Given the description of an element on the screen output the (x, y) to click on. 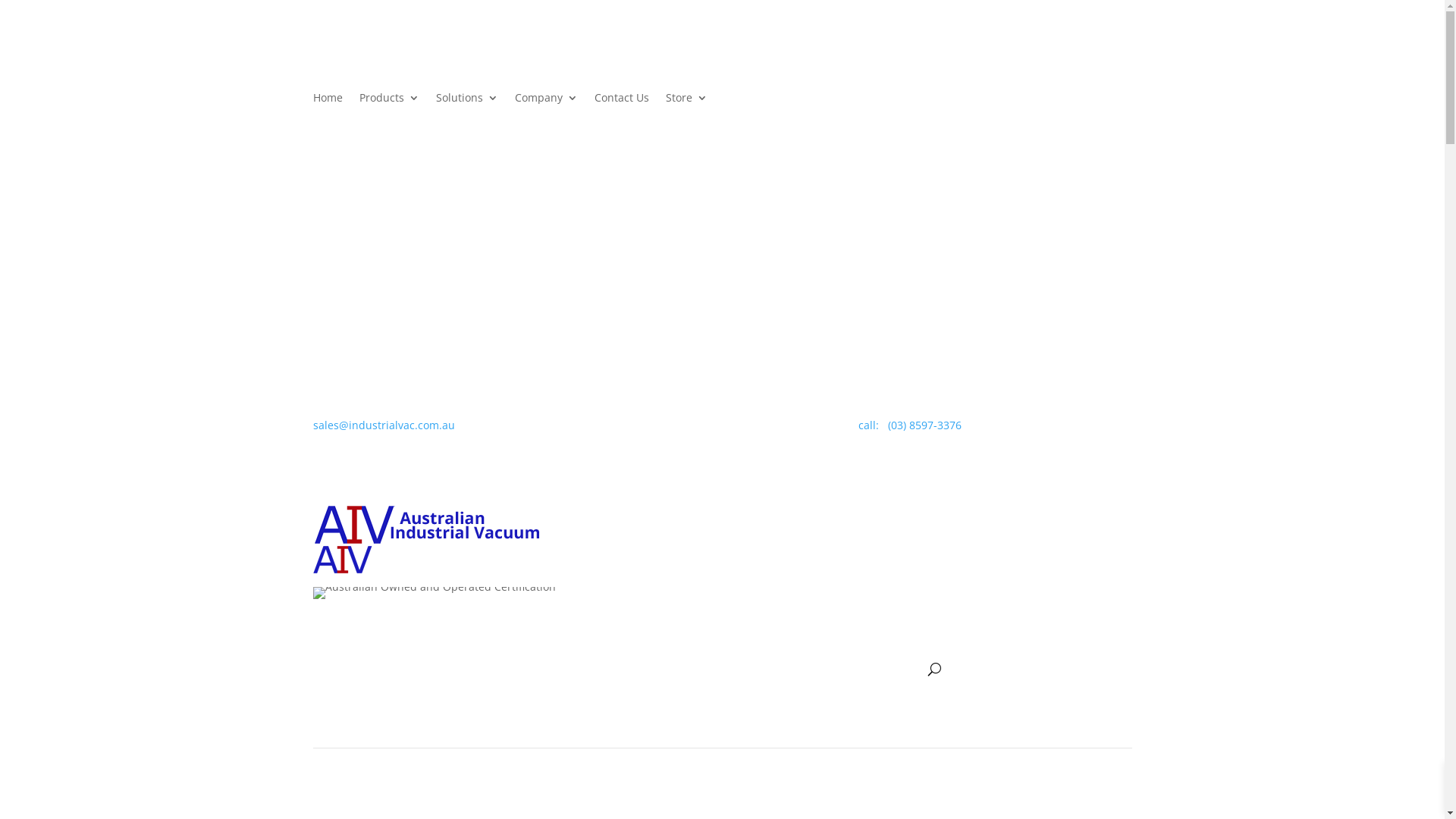
Follow on Twitter Element type: hover (1101, 46)
sales@industrialvac.com.au Element type: text (70, 41)
Follow on LinkedIn Element type: hover (1041, 46)
Store Element type: text (686, 109)
Follow on Instagram Element type: hover (1010, 46)
Home Element type: text (327, 109)
Store Element type: text (868, 672)
Contact Us Element type: text (621, 109)
Follow on Vimeo Element type: hover (736, 428)
Follow on Instagram Element type: hover (676, 428)
Solutions Element type: text (649, 672)
email-logo-full Element type: hover (425, 524)
Follow on Youtube Element type: hover (1132, 46)
Products Element type: text (389, 109)
sales@industrialvac.com.au Element type: text (383, 424)
Follow on Facebook Element type: hover (980, 46)
Follow on LinkedIn Element type: hover (706, 428)
Follow on Vimeo Element type: hover (1071, 46)
call:   (03) 8597-3376 Element type: text (909, 424)
Follow on Youtube Element type: hover (797, 428)
My account Element type: text (1351, 51)
store Element type: text (1096, 618)
submit Element type: text (831, 624)
Home Element type: text (509, 672)
Company Element type: text (727, 672)
AO-logo-595 Element type: hover (433, 592)
Call : (03) 8597-3376 Element type: text (50, 57)
email-logo-full Element type: hover (433, 48)
Solutions Element type: text (466, 109)
Company Element type: text (545, 109)
Contact Us Element type: text (803, 672)
Products Element type: text (571, 672)
AO-logo-595 Element type: hover (757, 49)
Follow on Twitter Element type: hover (767, 428)
sm-mobile-logo-store Element type: hover (341, 559)
Follow on Facebook Element type: hover (645, 428)
Checkout Element type: text (1420, 51)
